Given the description of an element on the screen output the (x, y) to click on. 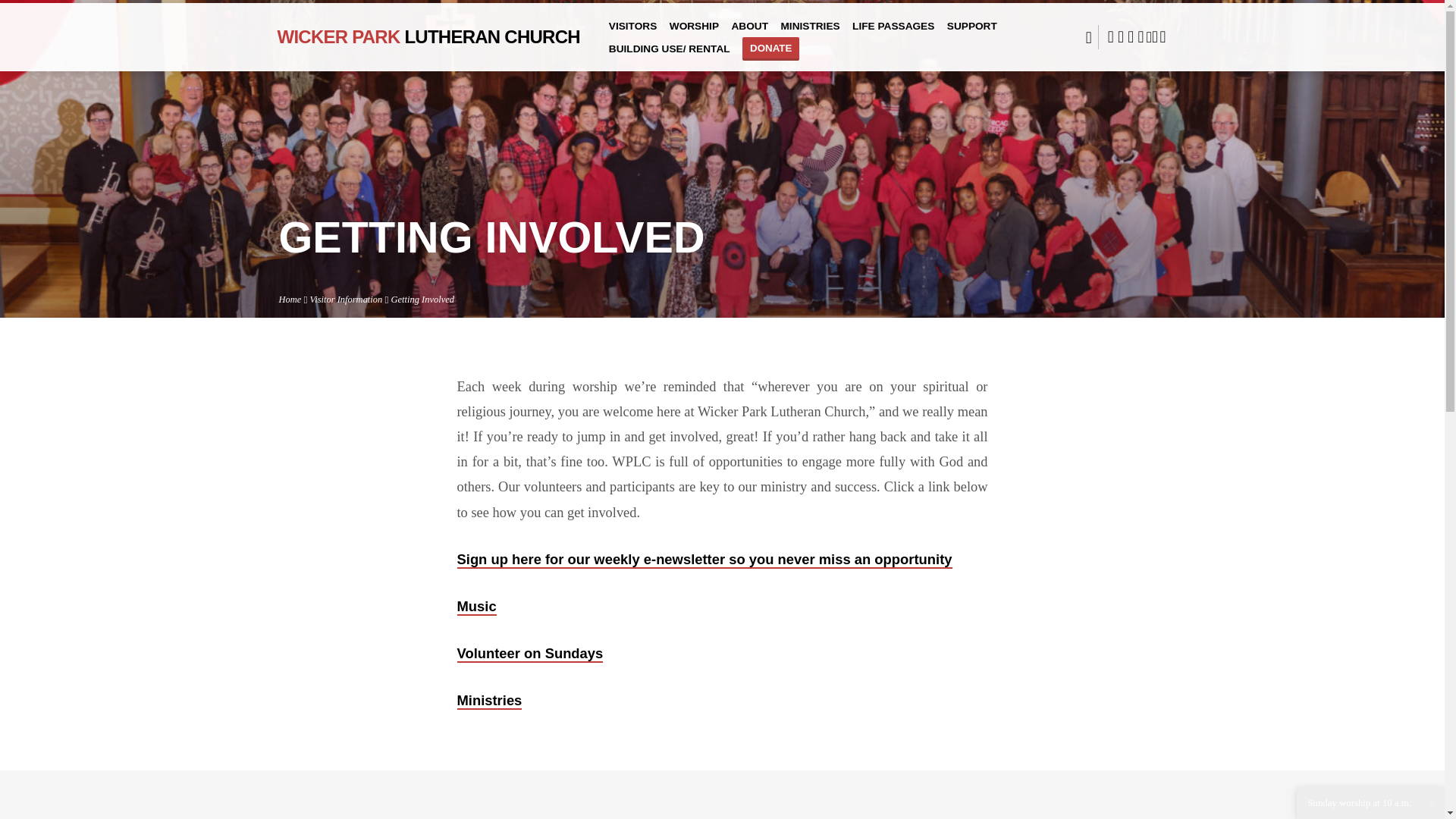
ABOUT (749, 33)
MINISTRIES (810, 33)
VISITORS (633, 33)
WORSHIP (694, 33)
WICKER PARK LUTHERAN CHURCH (428, 36)
LIFE PASSAGES (892, 33)
